Given the description of an element on the screen output the (x, y) to click on. 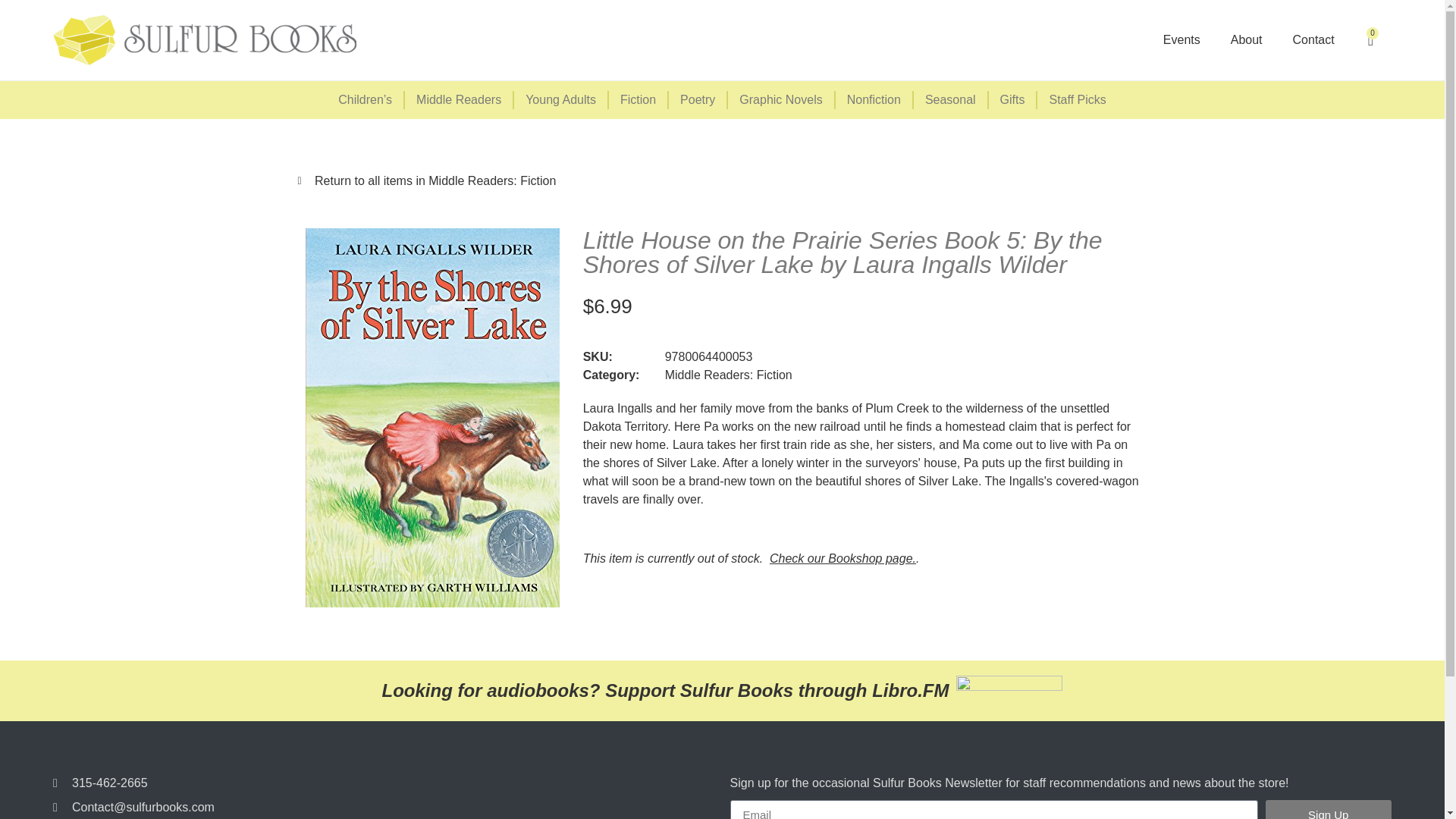
Contact (1313, 40)
Fiction (638, 99)
Young Adults (560, 99)
Sign Up (1328, 809)
Seasonal (951, 99)
Events (1181, 40)
Graphic Novels (781, 99)
Gifts (1013, 99)
Nonfiction (874, 99)
Check our Bookshop page. (842, 558)
